Given the description of an element on the screen output the (x, y) to click on. 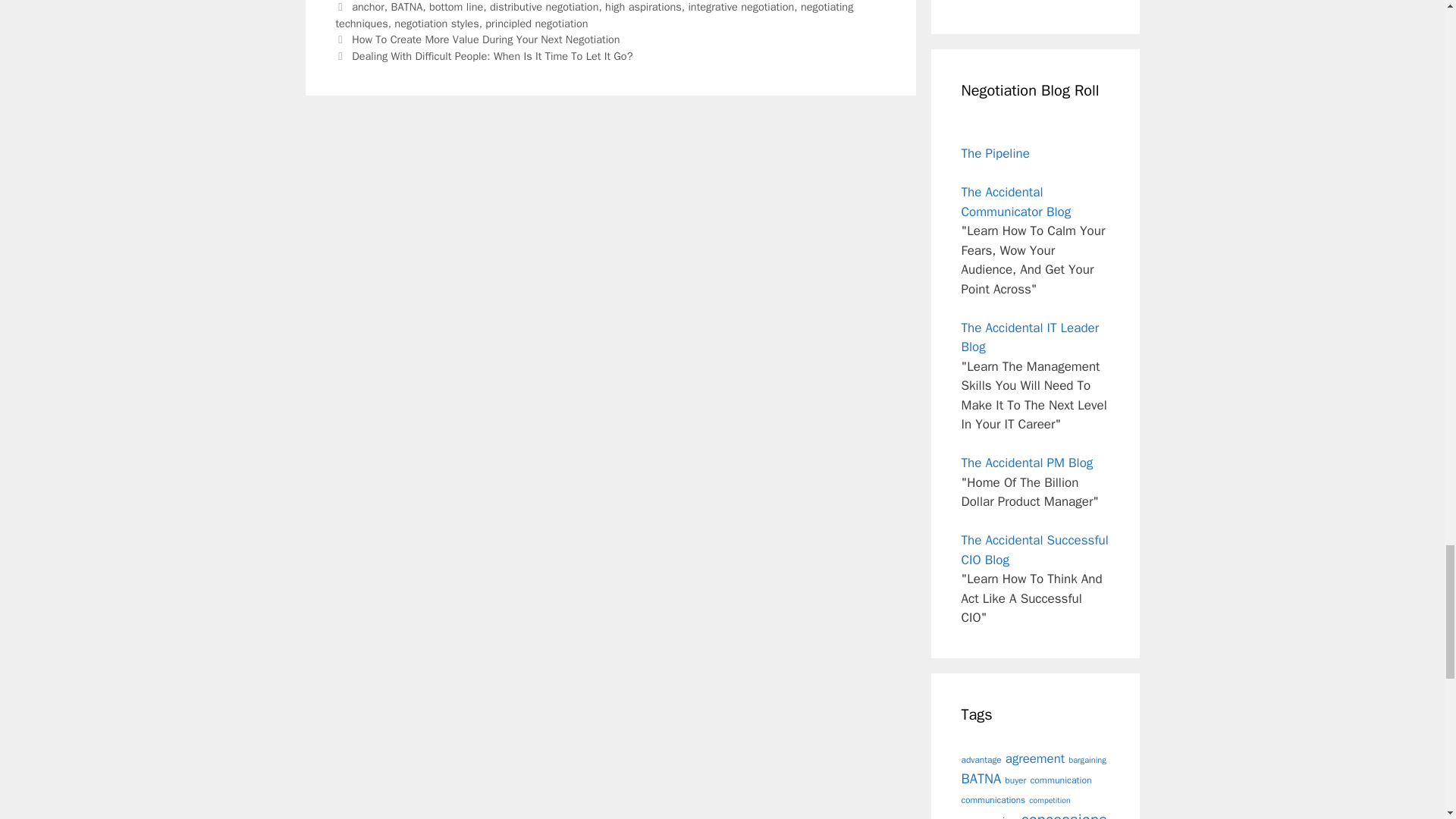
The Pipeline (994, 153)
negotiation styles (436, 23)
The Accidental IT Leader Blog (1029, 337)
negotiating techniques (593, 15)
bottom line (456, 6)
Dealing With Difficult People: When Is It Time To Let It Go? (491, 56)
The Accidental Communicator Blog (1015, 202)
high aspirations (643, 6)
distributive negotiation (543, 6)
BATNA (407, 6)
integrative negotiation (740, 6)
anchor (368, 6)
principled negotiation (536, 23)
How To Create More Value During Your Next Negotiation (486, 38)
